Given the description of an element on the screen output the (x, y) to click on. 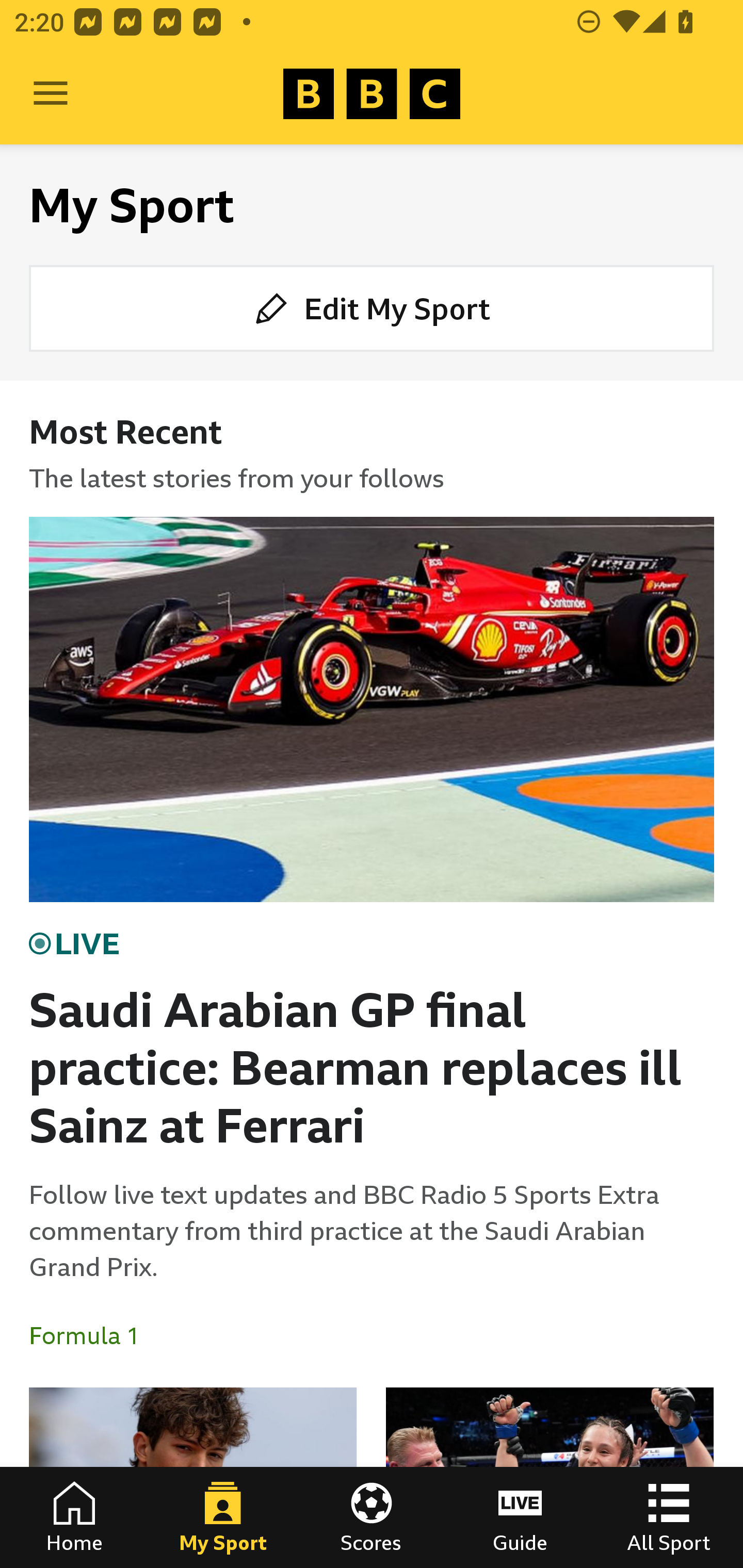
Open Menu (50, 93)
Edit My Sport (371, 307)
Home (74, 1517)
Scores (371, 1517)
Guide (519, 1517)
All Sport (668, 1517)
